Given the description of an element on the screen output the (x, y) to click on. 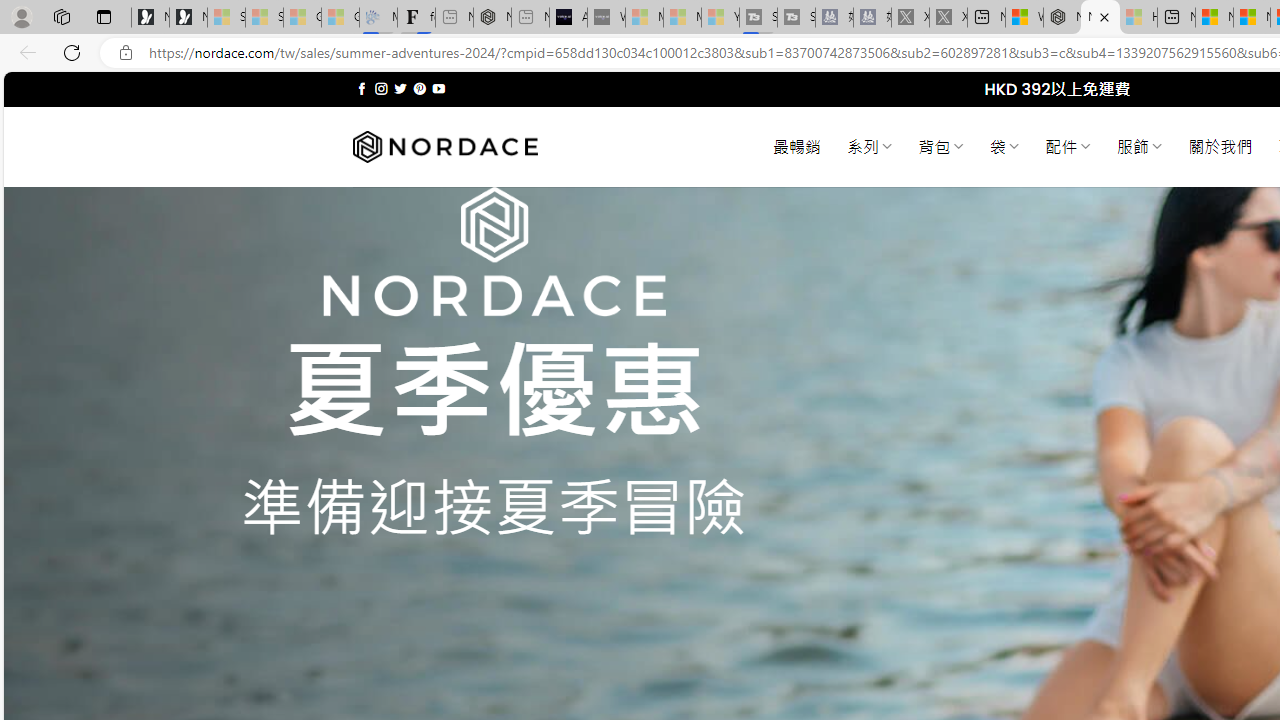
AI Voice Changer for PC and Mac - Voice.ai (568, 17)
Follow on Facebook (361, 88)
